Given the description of an element on the screen output the (x, y) to click on. 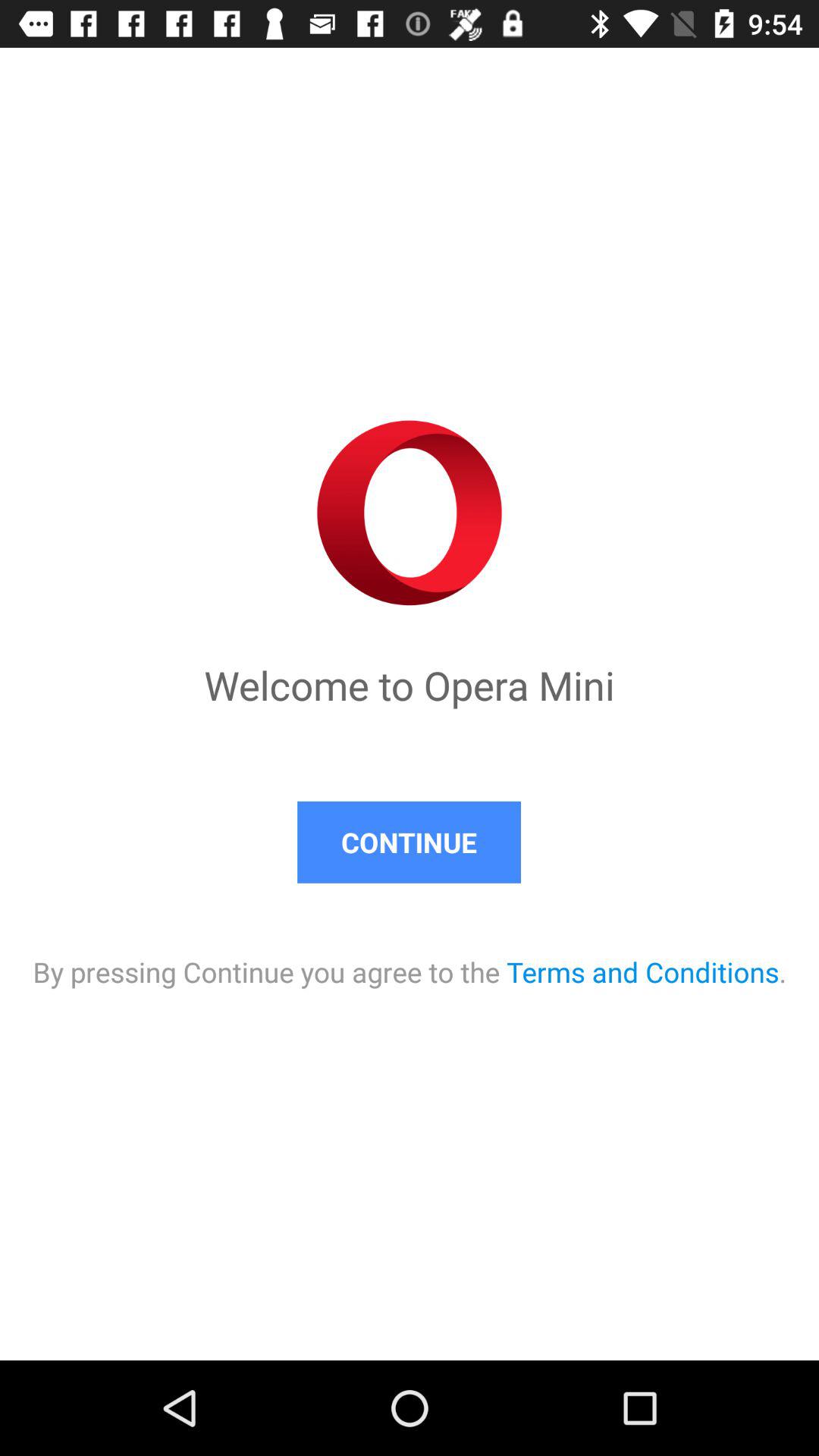
open the icon below the continue icon (409, 956)
